Given the description of an element on the screen output the (x, y) to click on. 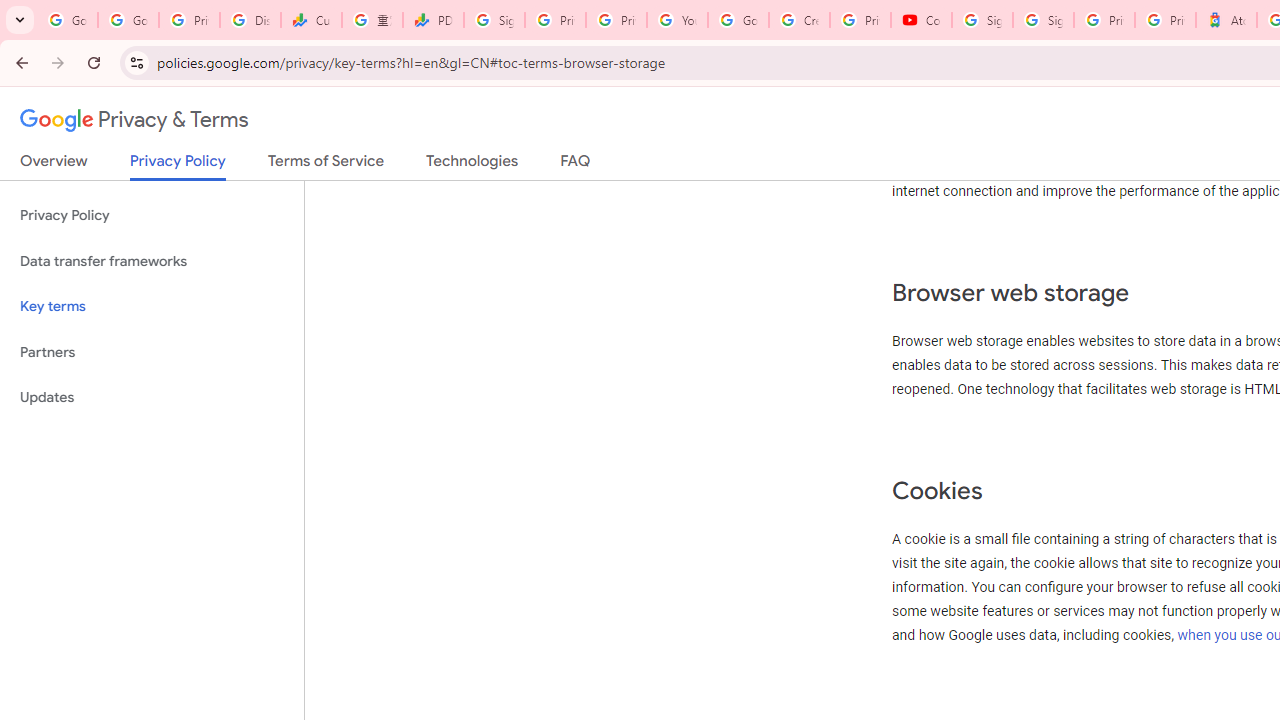
Privacy Checkup (616, 20)
Sign in - Google Accounts (493, 20)
Google Account Help (738, 20)
Atour Hotel - Google hotels (1225, 20)
